Given the description of an element on the screen output the (x, y) to click on. 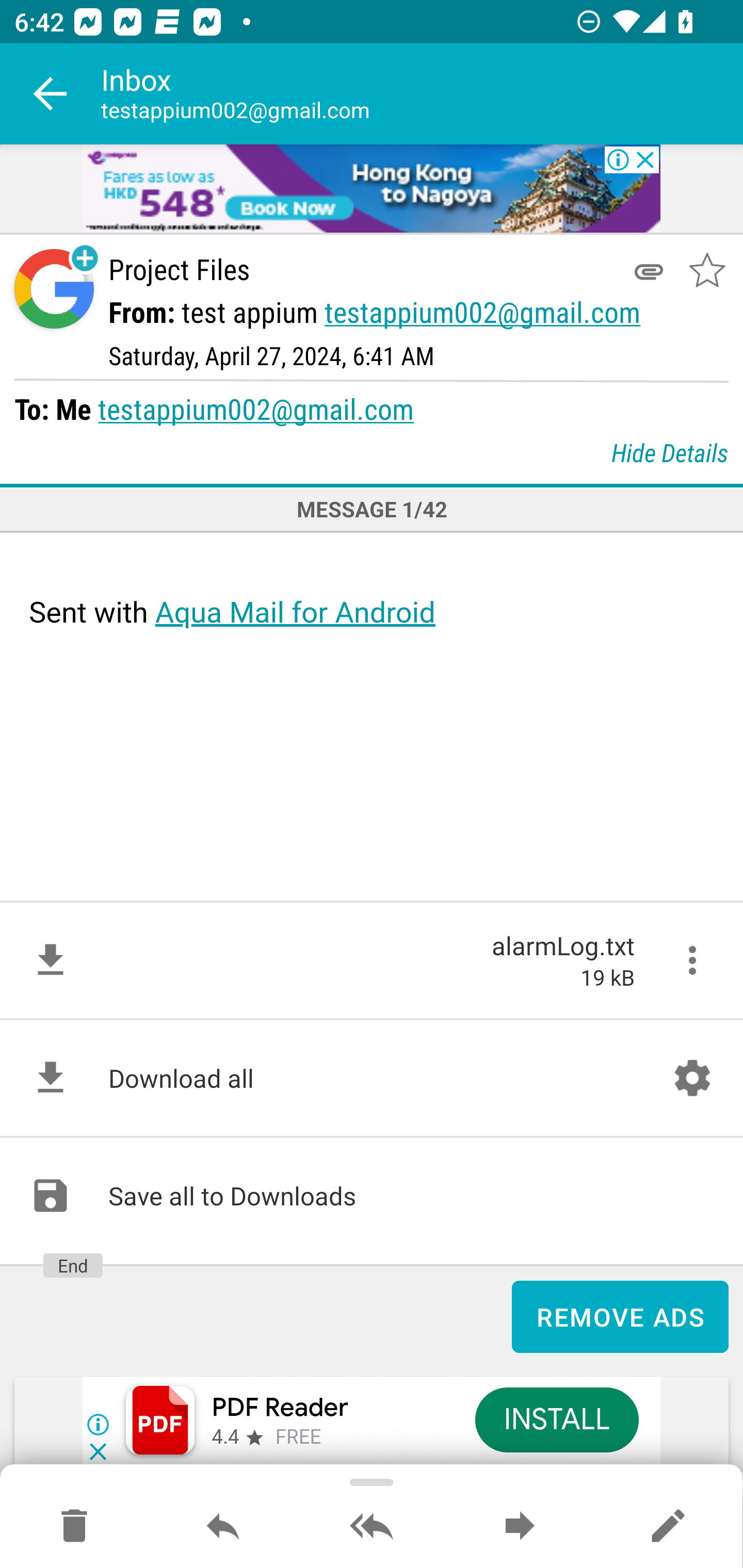
Navigate up (50, 93)
Inbox testappium002@gmail.com (422, 93)
Advertisement (371, 189)
Sender contact button (53, 289)
Aqua Mail for Android (294, 612)
alarmLog.txt 19 kB More options (371, 960)
More options (692, 960)
Download all Account setup (371, 1077)
Account setup (692, 1077)
Save all to Downloads (371, 1195)
REMOVE ADS (619, 1317)
INSTALL (556, 1419)
PDF Reader (279, 1407)
4.4 (224, 1437)
FREE (298, 1437)
Move to Deleted (74, 1527)
Reply (222, 1527)
Reply all (371, 1527)
Forward (519, 1527)
Reply as new (667, 1527)
